Given the description of an element on the screen output the (x, y) to click on. 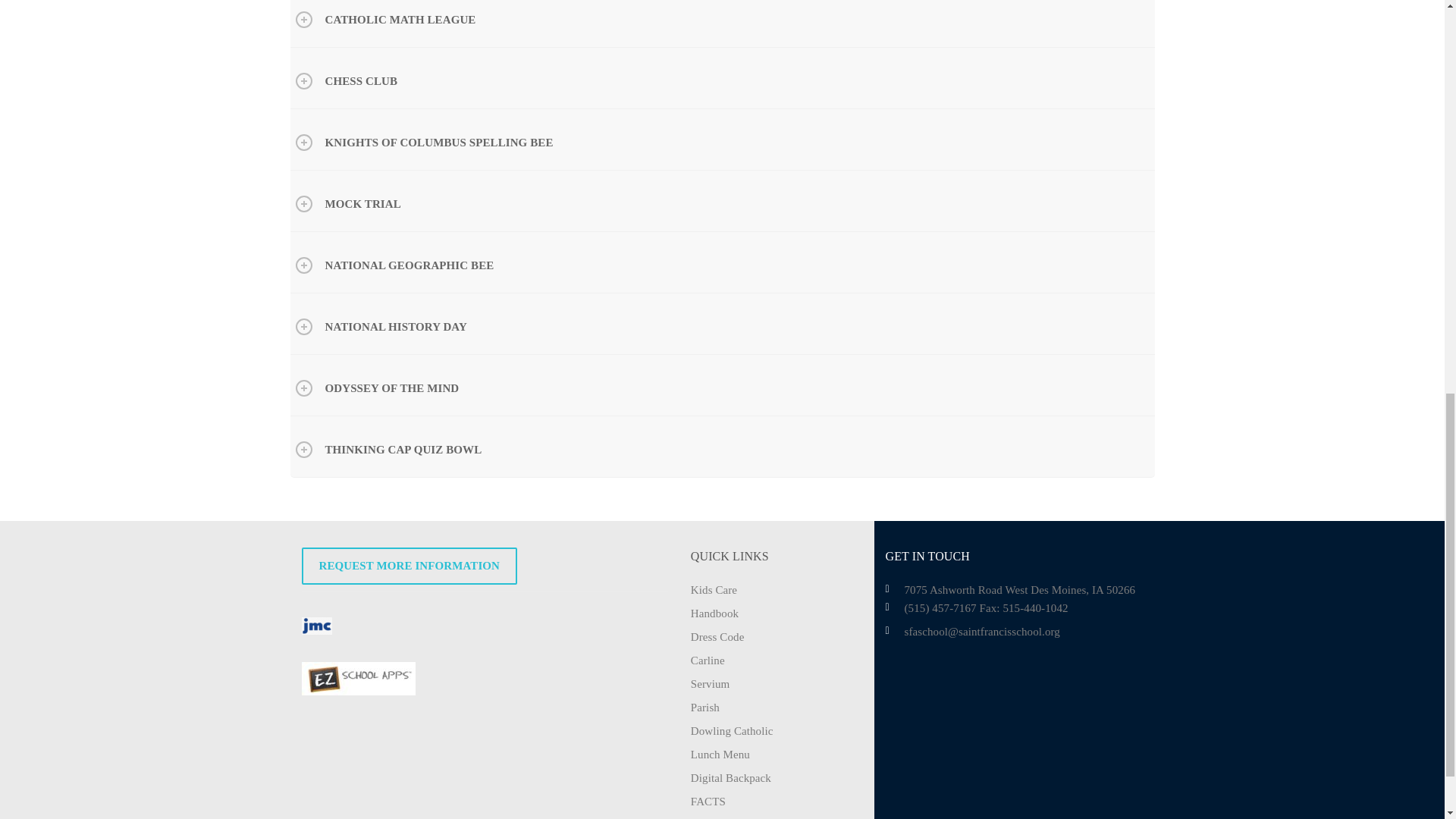
EZ School Logo (357, 678)
